Given the description of an element on the screen output the (x, y) to click on. 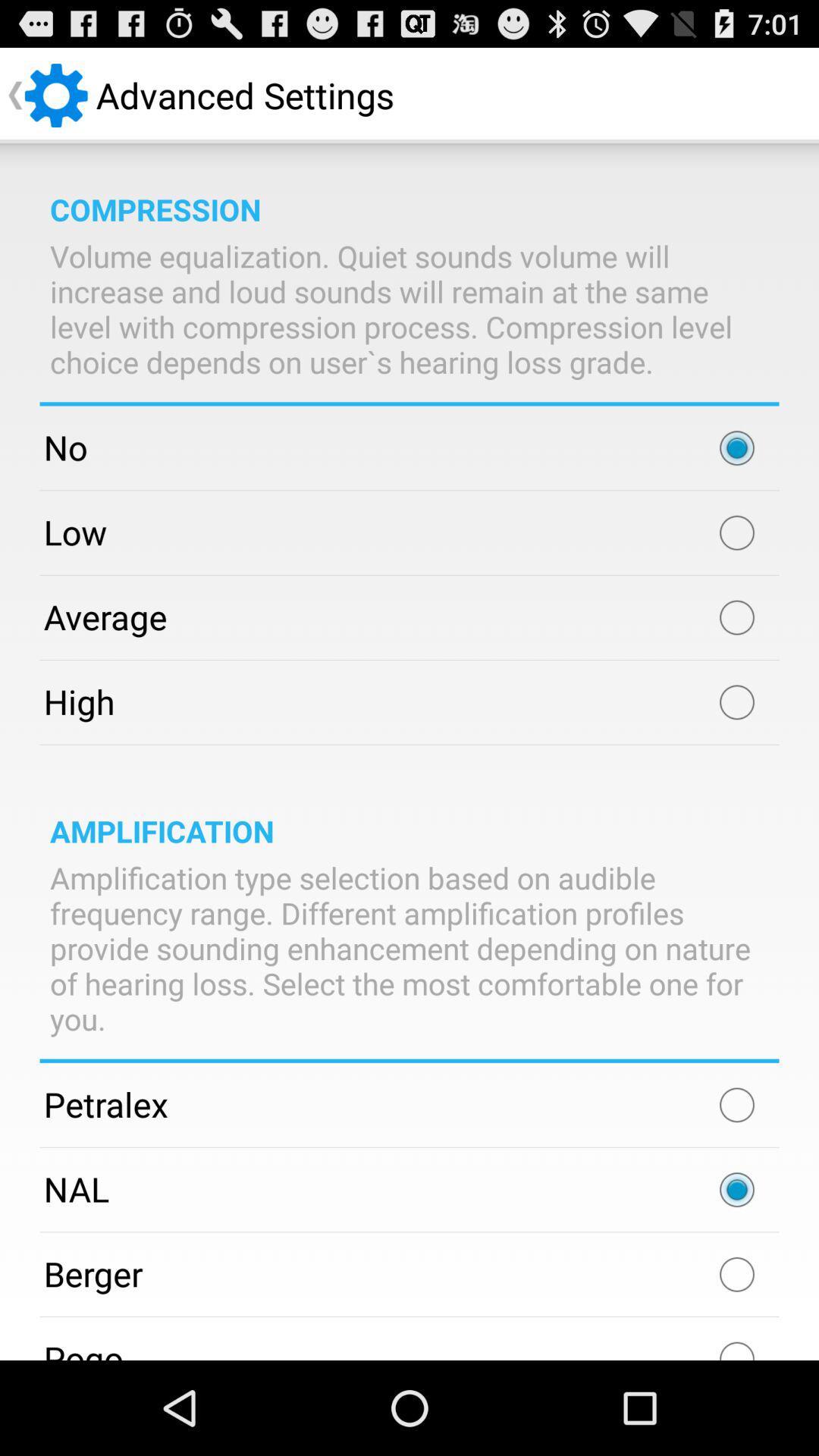
launch the icon next to the petralex app (736, 1104)
